Given the description of an element on the screen output the (x, y) to click on. 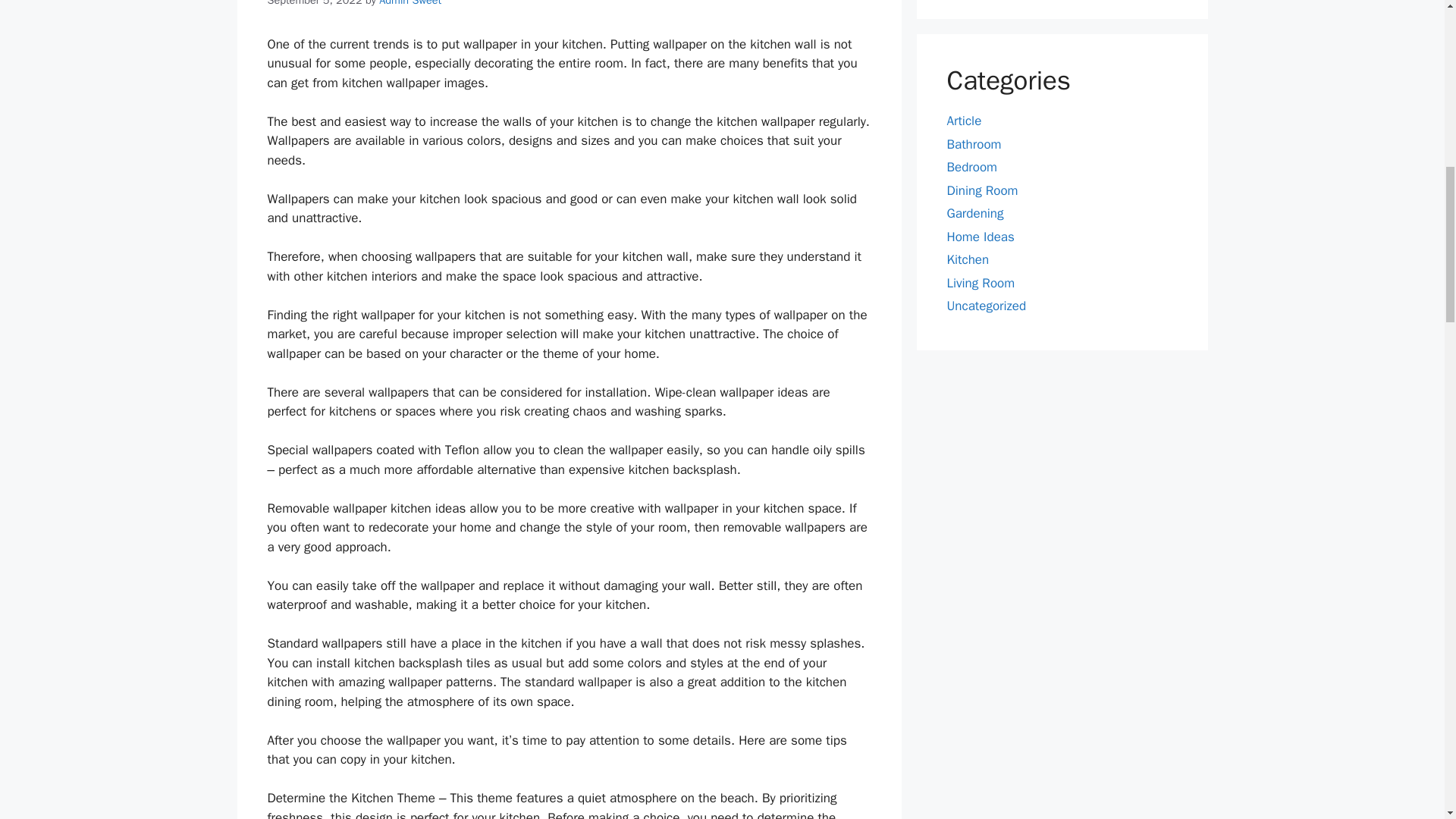
View all posts by Admin Sweet (409, 3)
Gardening (974, 213)
Bathroom (973, 144)
Kitchen (967, 259)
Admin Sweet (409, 3)
Home Ideas (979, 236)
Bedroom (971, 166)
Living Room (980, 283)
Uncategorized (986, 305)
Dining Room (981, 190)
Article (963, 120)
